Given the description of an element on the screen output the (x, y) to click on. 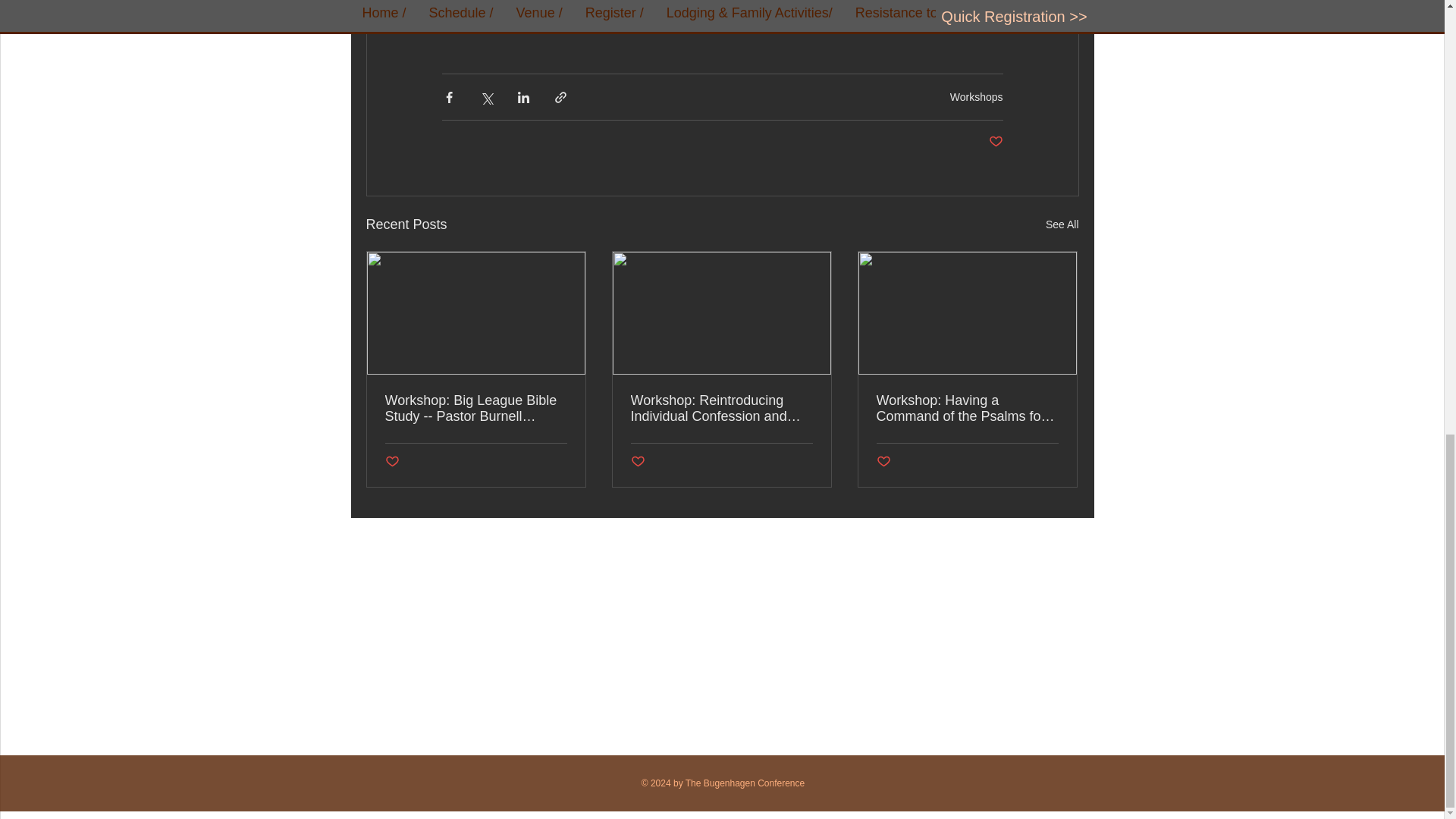
here (954, 24)
Post not marked as liked (995, 141)
Post not marked as liked (883, 462)
Workshops (976, 96)
Workshop: Big League Bible Study -- Pastor Burnell Eckardt (476, 409)
See All (1061, 224)
Post not marked as liked (637, 462)
bugenhagenconference.org (630, 24)
Post not marked as liked (391, 462)
